Given the description of an element on the screen output the (x, y) to click on. 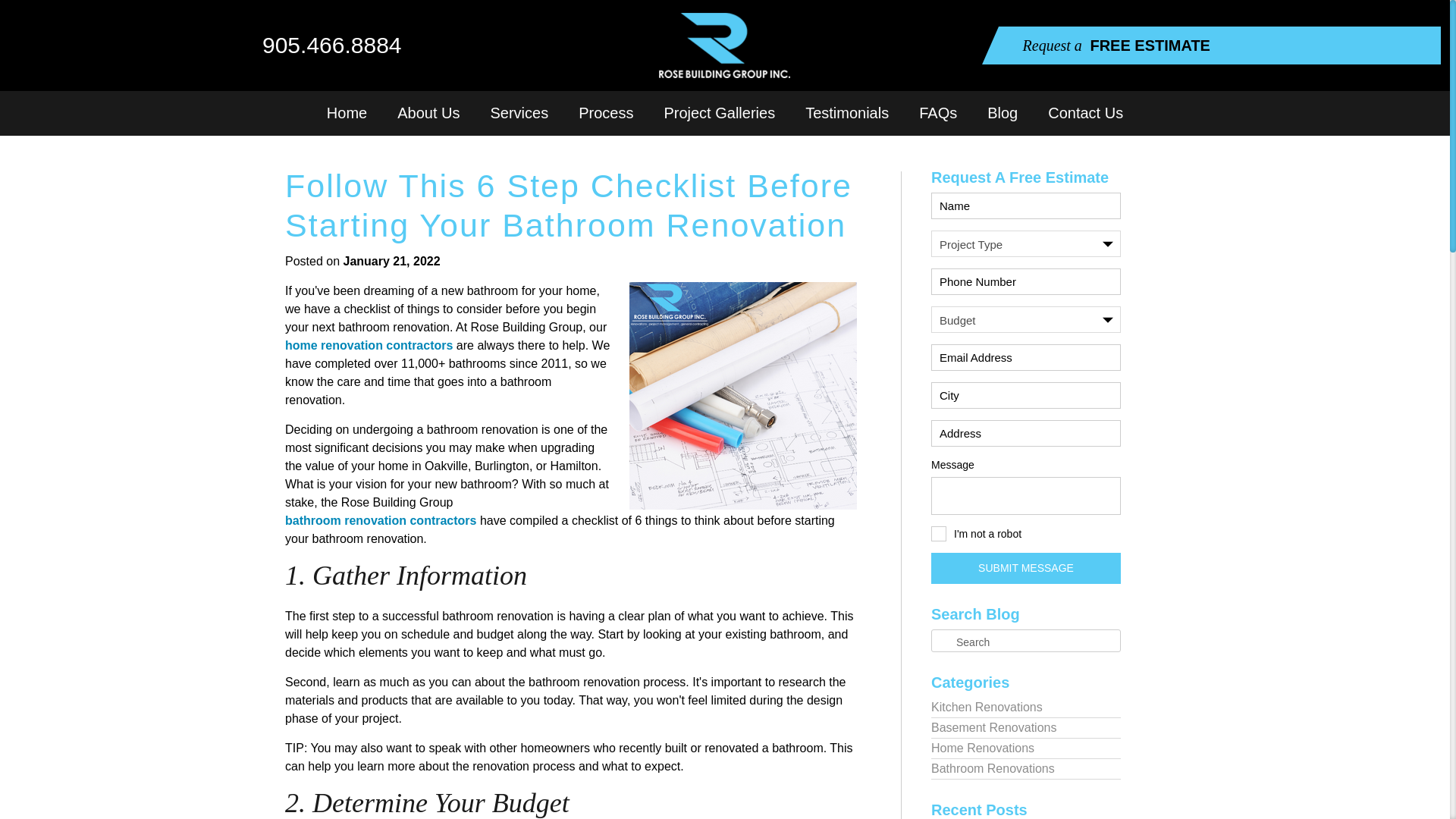
Process (605, 113)
Kitchen Renovations (1026, 707)
Services (518, 113)
bathroom renovation contractors (380, 520)
bathroom renovation contractors hamilton oakville burlington (380, 520)
Testimonials (847, 113)
905.466.8884 (320, 44)
Project Galleries (718, 113)
home renovation contractors (368, 345)
About Us (427, 113)
